Given the description of an element on the screen output the (x, y) to click on. 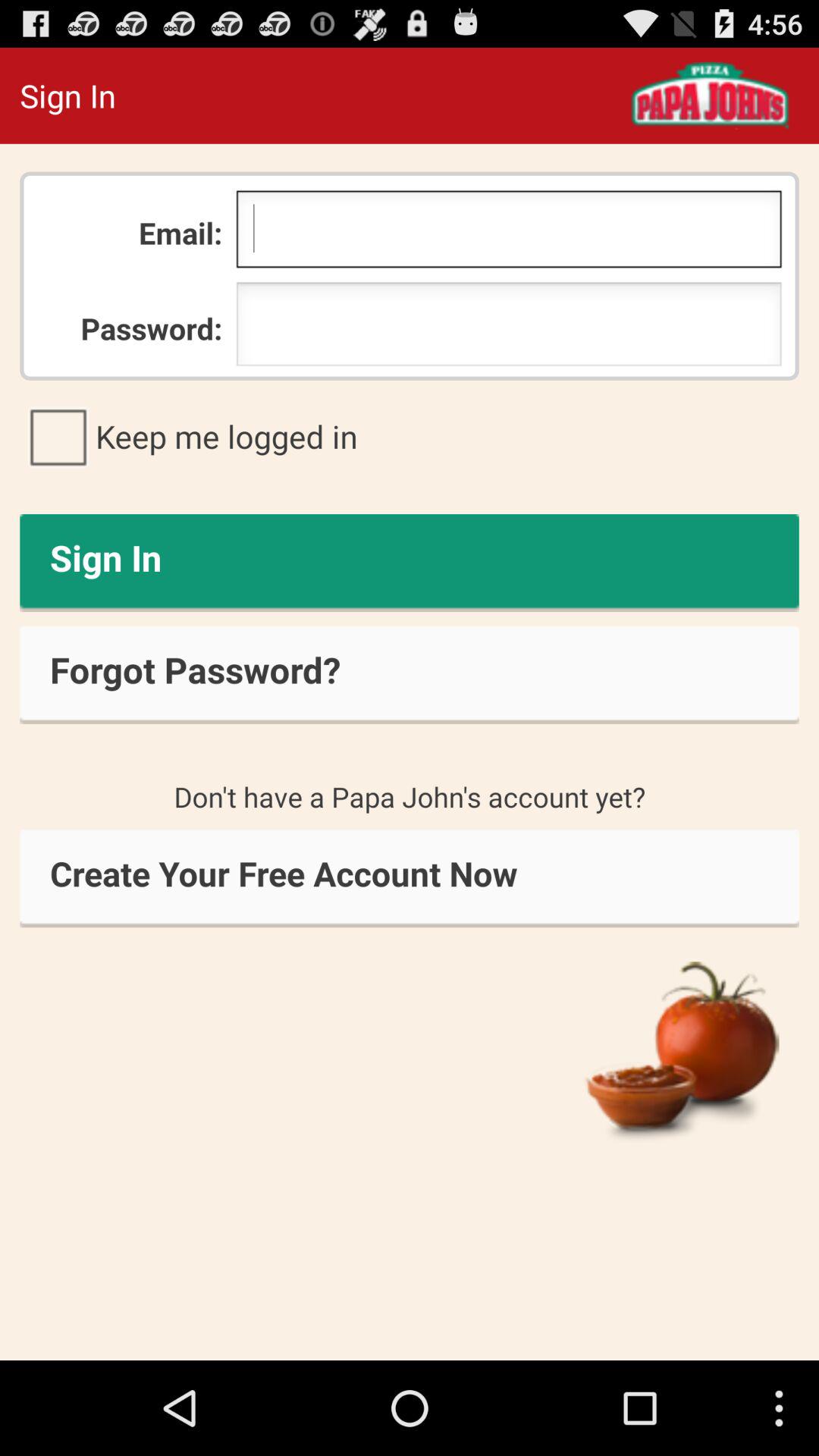
type your email (508, 232)
